Given the description of an element on the screen output the (x, y) to click on. 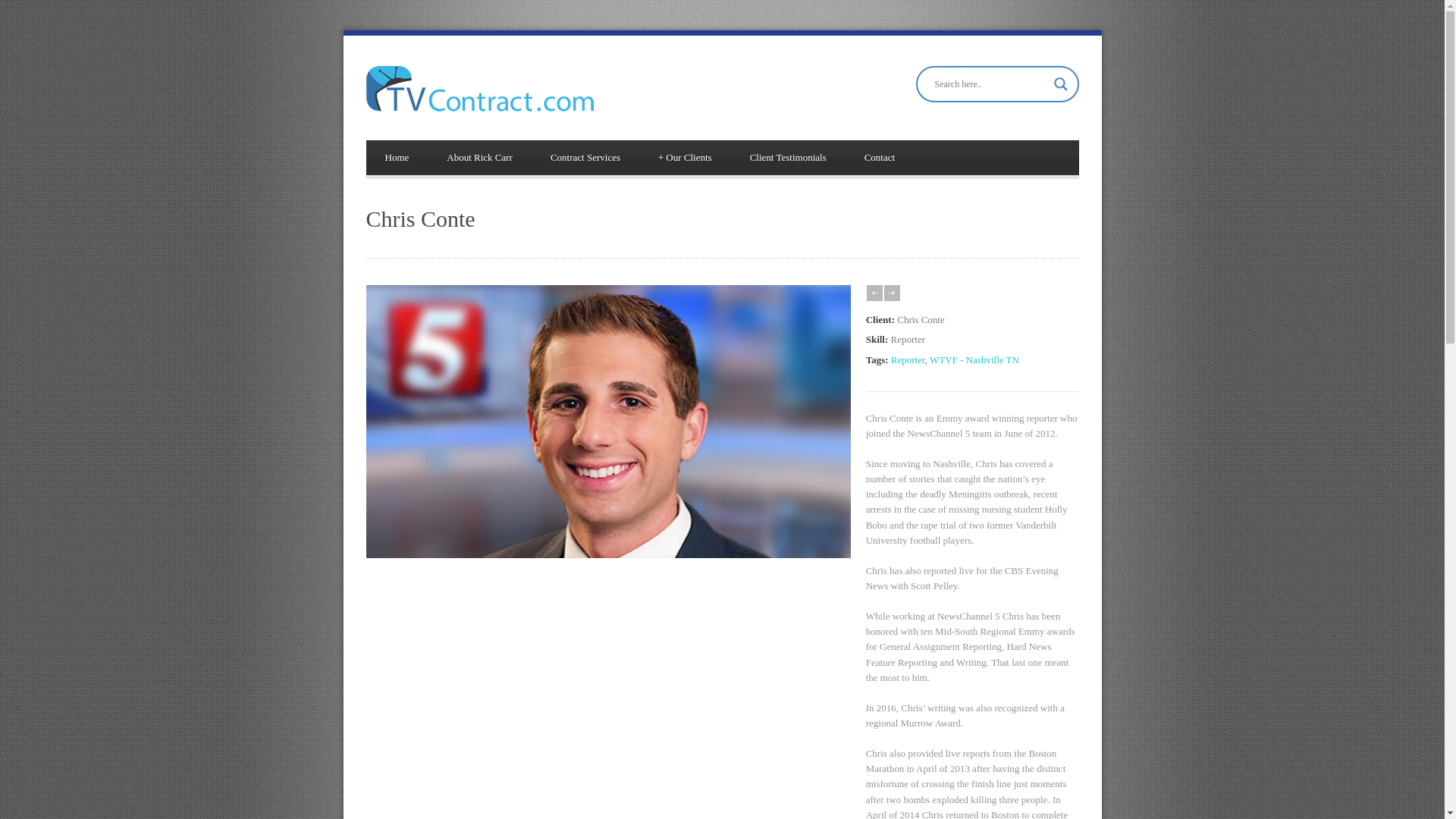
Contract Services (585, 157)
Contact (879, 157)
About Rick Carr (479, 157)
Chris Conte (607, 554)
WTVF - Nashville TN (974, 359)
Reporter (907, 359)
Home (396, 157)
Client Testimonials (787, 157)
